Given the description of an element on the screen output the (x, y) to click on. 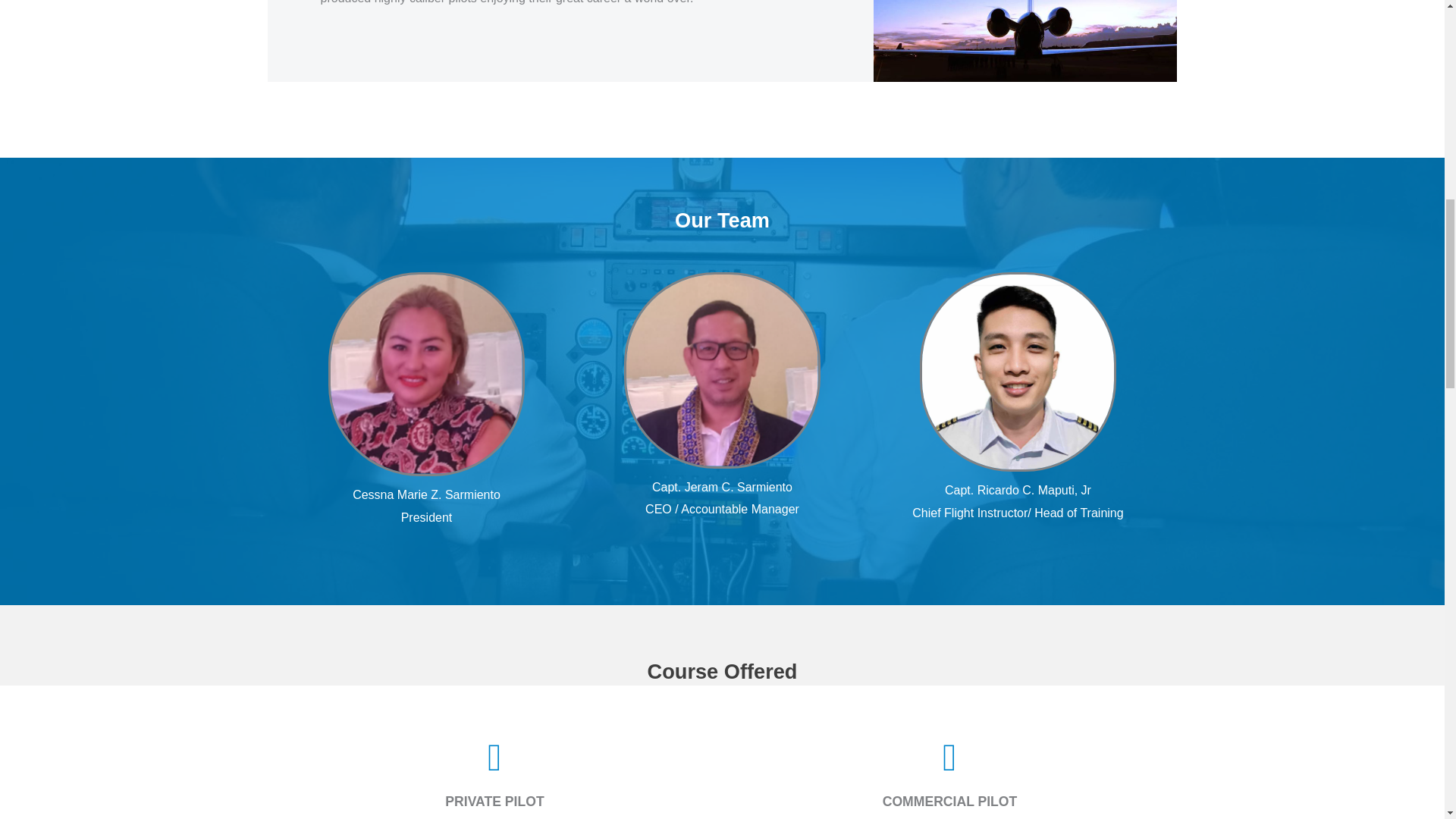
Sarmiento (722, 369)
Capt.Maputi, Jr. (1018, 371)
Picture1 (426, 373)
